Given the description of an element on the screen output the (x, y) to click on. 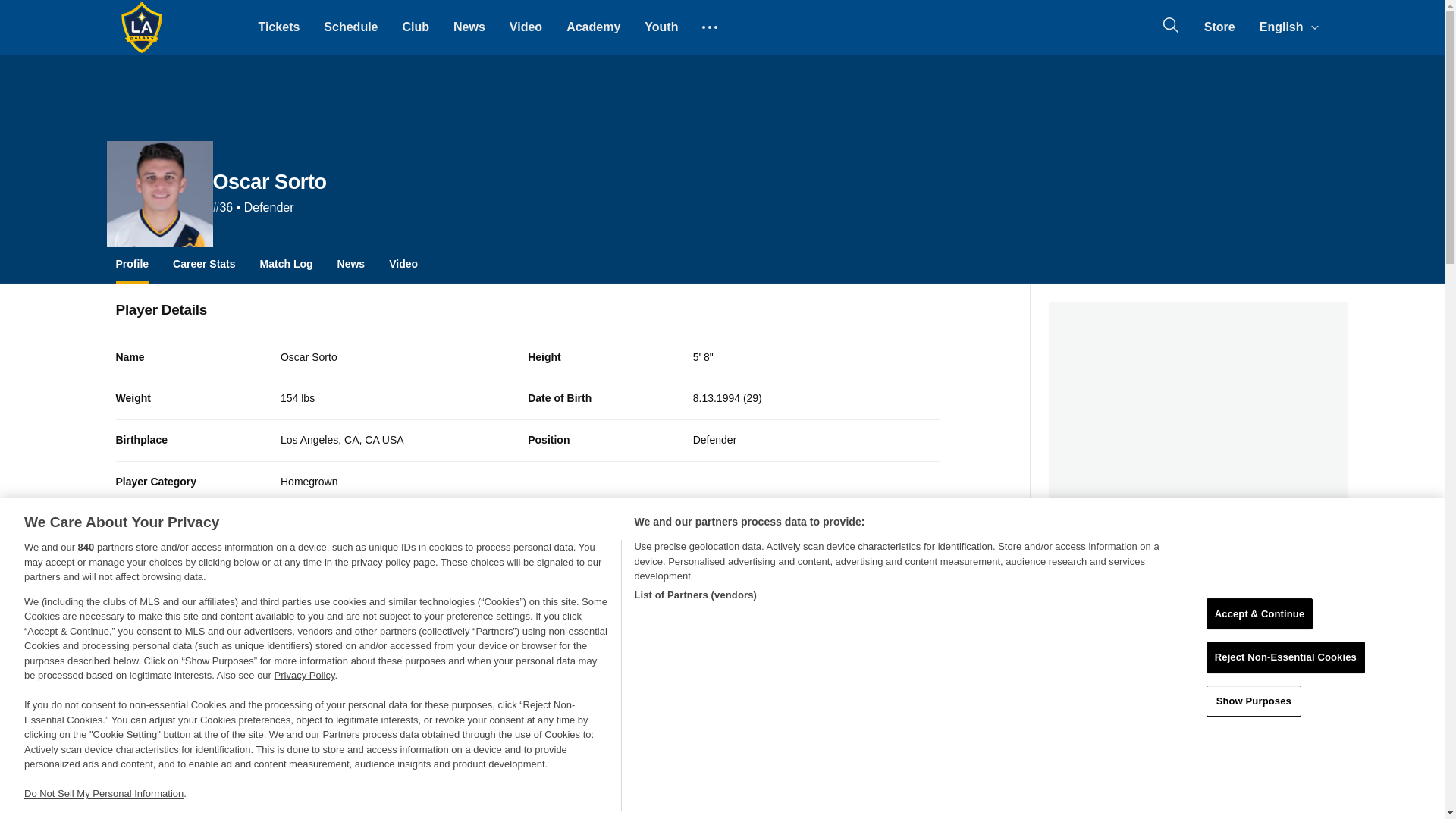
Academy (592, 26)
LA Galaxy (141, 27)
Club (415, 26)
Tickets (278, 26)
Schedule (350, 26)
English (1288, 27)
News (469, 26)
Store (1219, 26)
Youth (660, 26)
Video (525, 26)
